Given the description of an element on the screen output the (x, y) to click on. 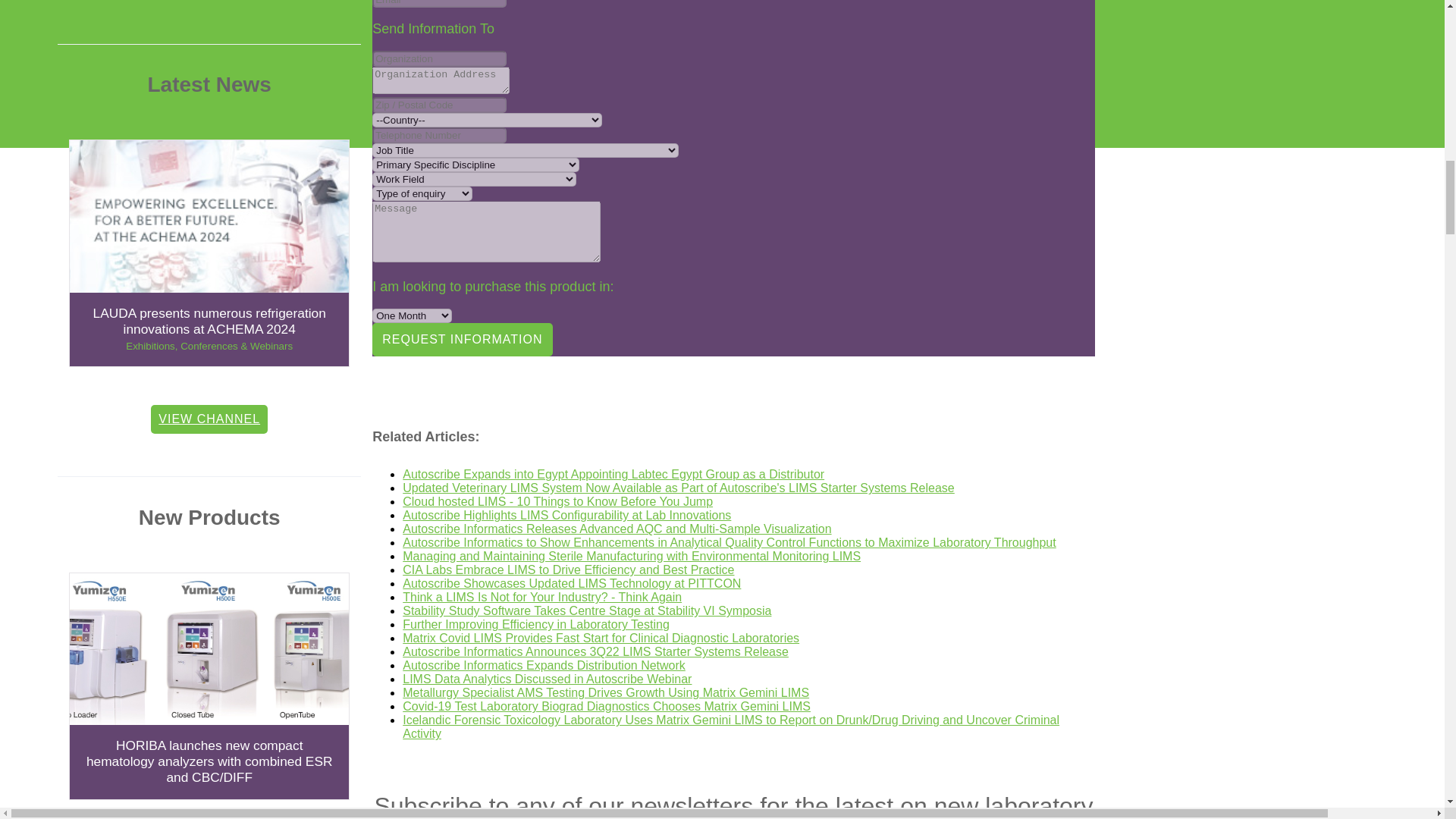
Request Information (461, 339)
